Given the description of an element on the screen output the (x, y) to click on. 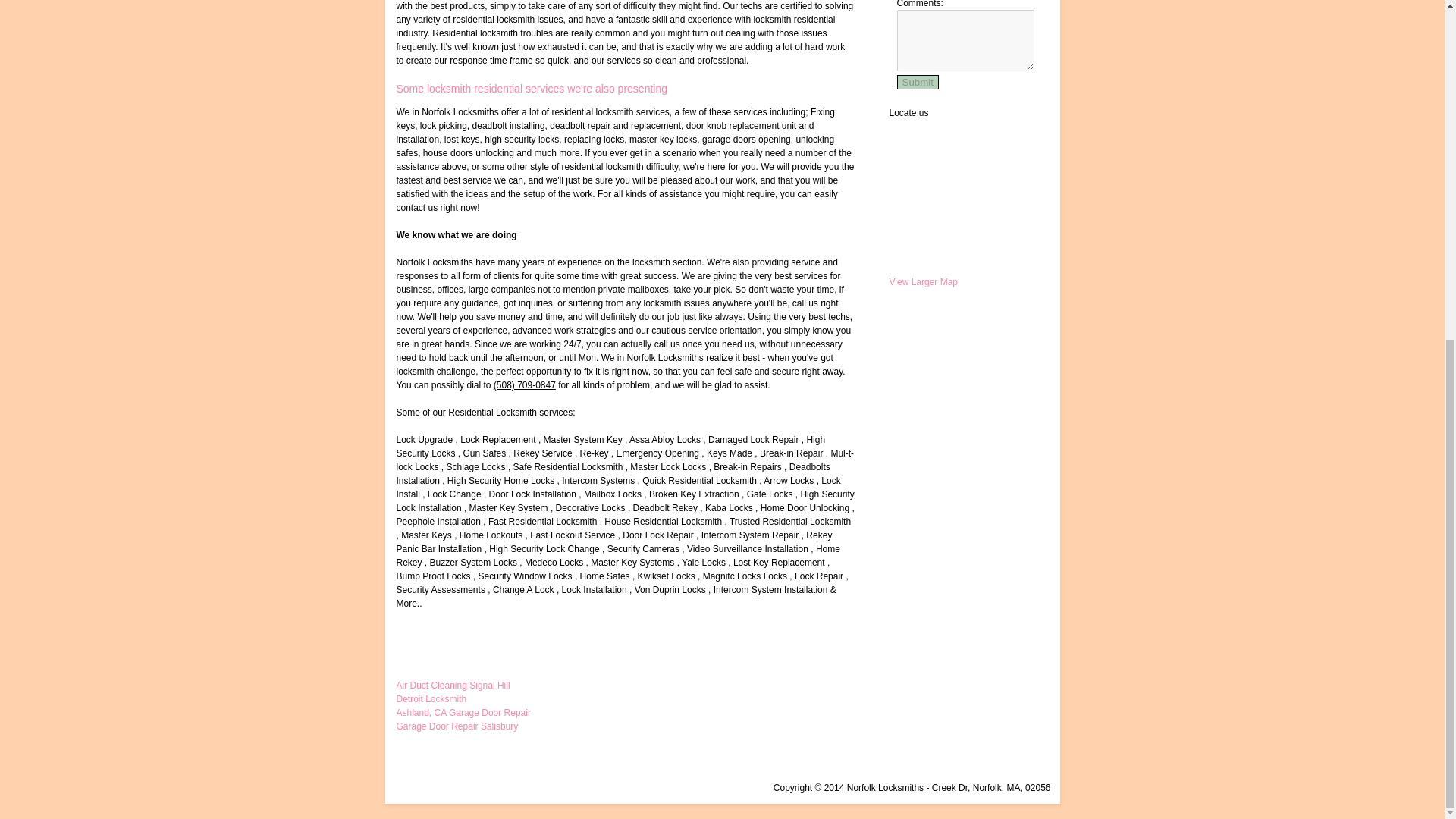
View Larger Map of Norfolk, MA (923, 281)
Norfolk Locksmiths (885, 787)
Ashland, CA Garage Door Repair (462, 712)
Submit (916, 82)
Detroit Locksmith (430, 698)
Air Duct Cleaning Signal Hill (452, 685)
Ashland, CA Garage Door Repair (462, 712)
Norfolk Locksmiths (991, 787)
Garage Door Repair Salisbury (457, 726)
Creek Dr, Norfolk, MA, 02056 (991, 787)
